Given the description of an element on the screen output the (x, y) to click on. 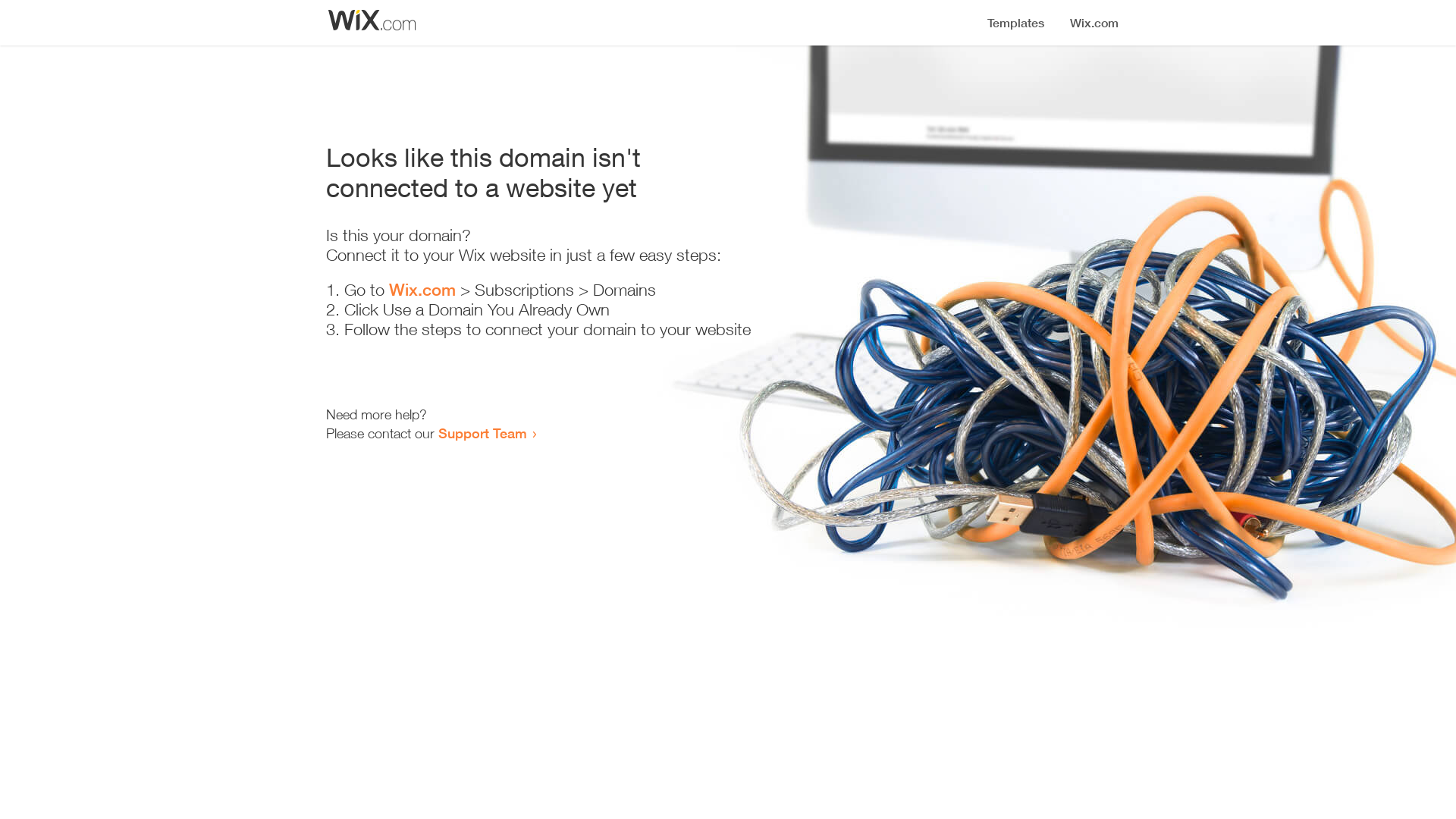
Wix.com Element type: text (422, 289)
Support Team Element type: text (482, 432)
